Given the description of an element on the screen output the (x, y) to click on. 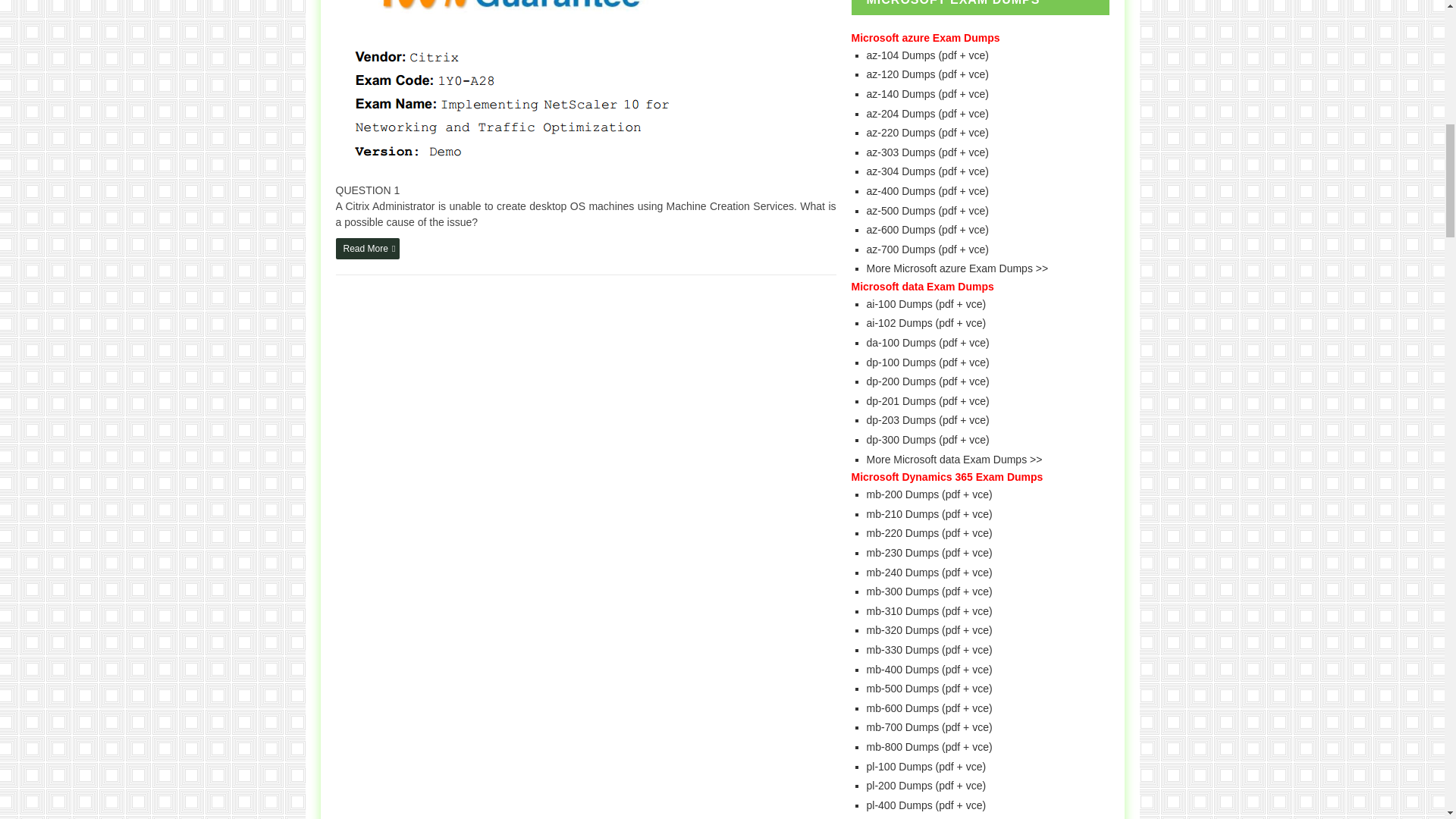
Read More (366, 248)
